Given the description of an element on the screen output the (x, y) to click on. 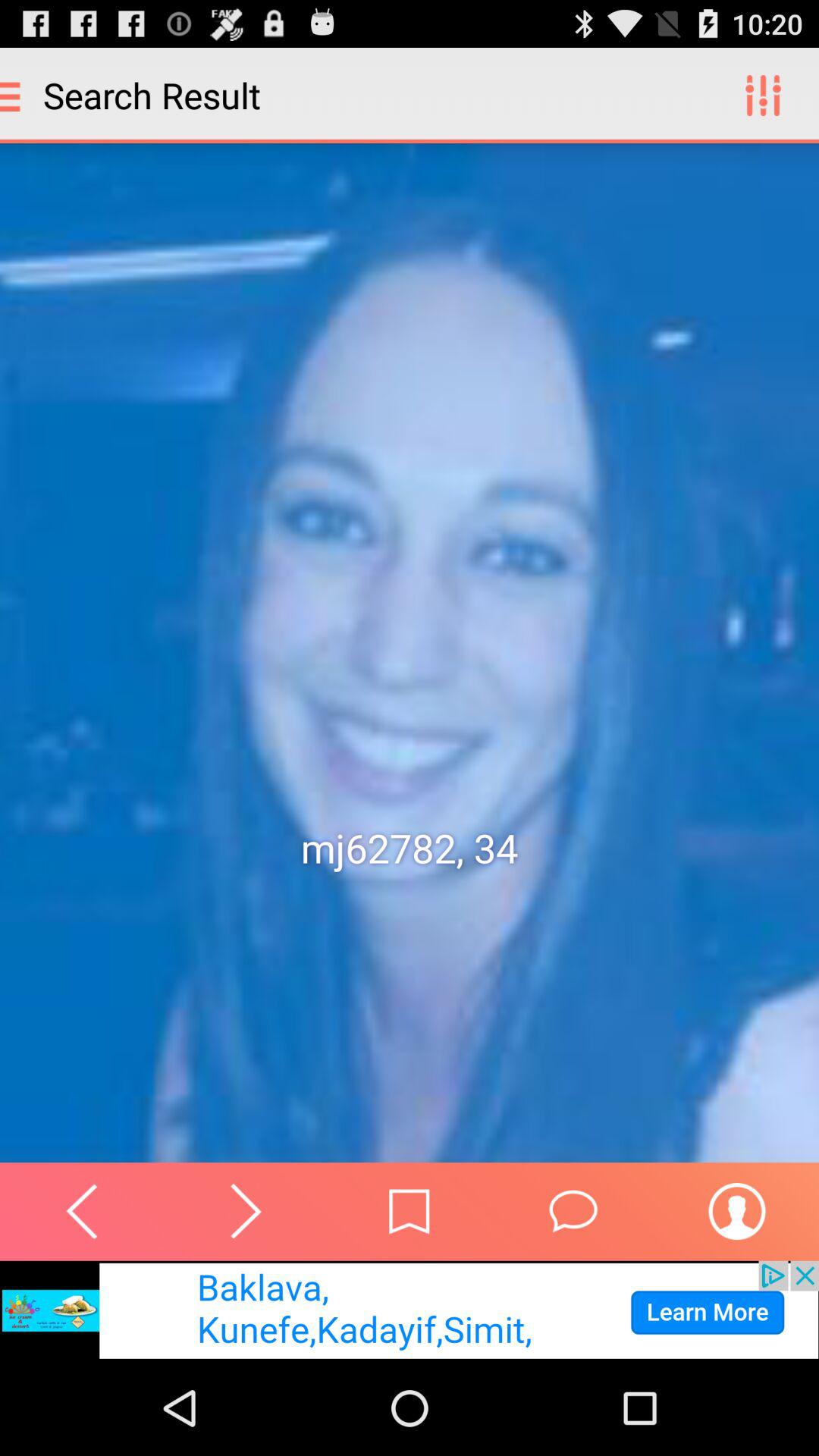
add comment (573, 1211)
